Given the description of an element on the screen output the (x, y) to click on. 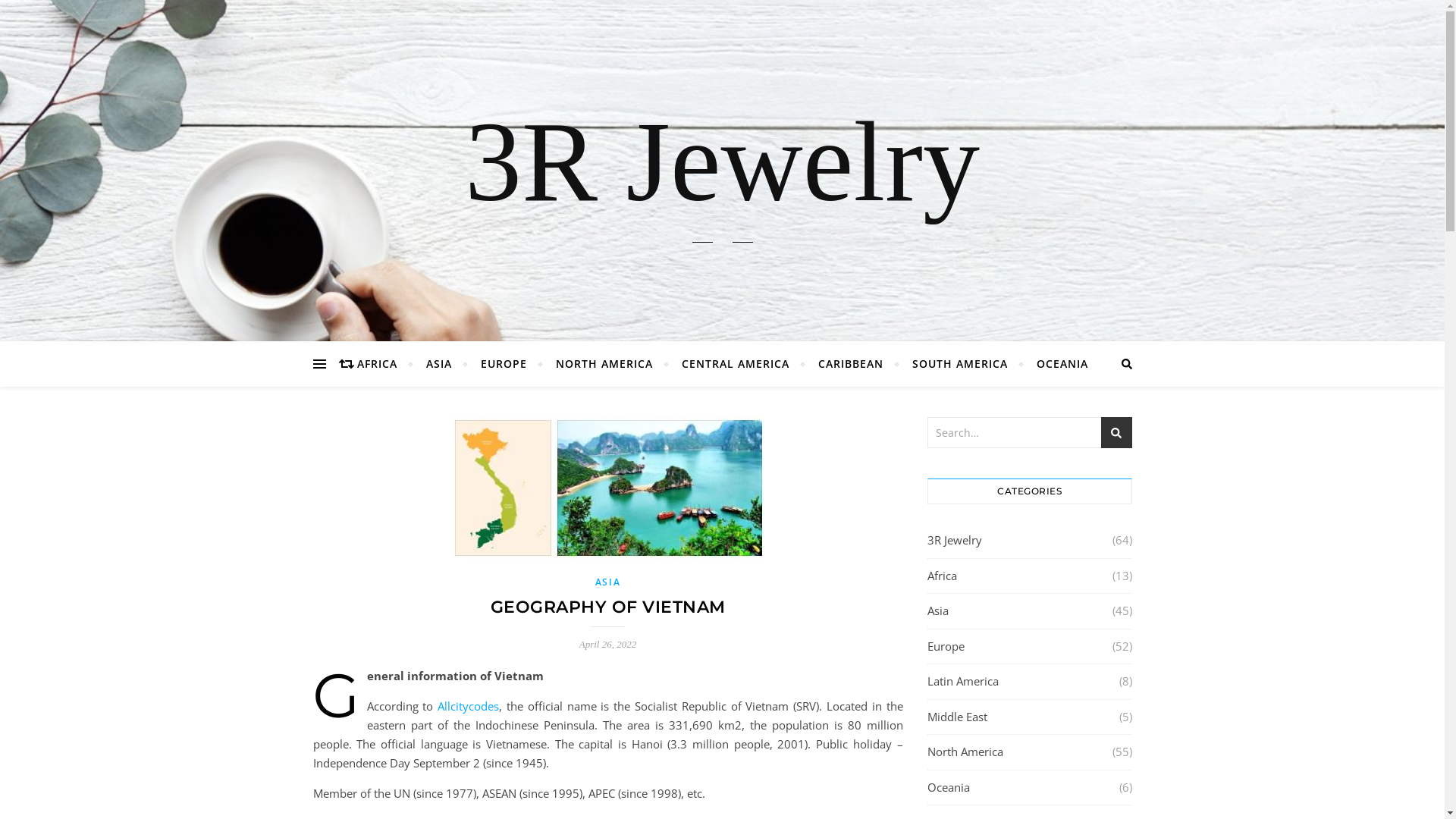
ASIA Element type: text (608, 581)
Africa Element type: text (941, 576)
3R Jewelry Element type: text (953, 540)
CENTRAL AMERICA Element type: text (735, 363)
Asia Element type: text (936, 611)
OCEANIA Element type: text (1055, 363)
SOUTH AMERICA Element type: text (959, 363)
CARIBBEAN Element type: text (850, 363)
3R Jewelry Element type: text (722, 161)
EUROPE Element type: text (503, 363)
AFRICA Element type: text (382, 363)
Oceania Element type: text (947, 787)
Europe Element type: text (944, 645)
Middle East Element type: text (956, 717)
st Element type: text (1116, 432)
ASIA Element type: text (438, 363)
NORTH AMERICA Element type: text (603, 363)
Latin America Element type: text (961, 681)
North America Element type: text (964, 752)
Allcitycodes Element type: text (467, 705)
